Given the description of an element on the screen output the (x, y) to click on. 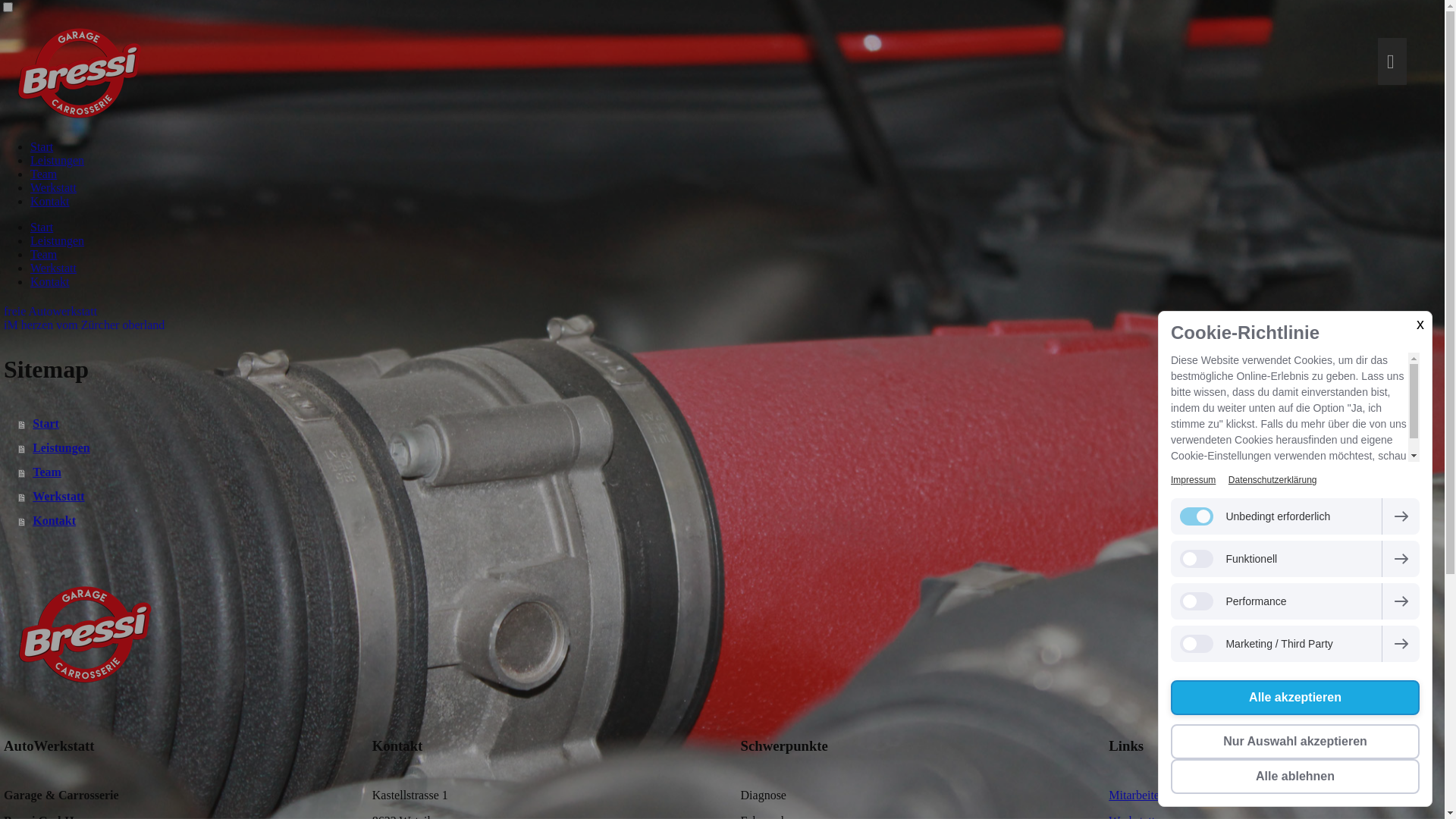
Impressum Element type: text (1192, 479)
Alle ablehnen Element type: text (1294, 776)
Werkstatt Element type: text (53, 187)
Team Element type: text (731, 472)
Team Element type: text (43, 253)
Leistungen Element type: text (731, 448)
Leistungen Element type: text (57, 240)
Werkstatt Element type: text (53, 267)
Start Element type: text (41, 146)
Leistungen Element type: text (57, 159)
Alle akzeptieren Element type: text (1294, 697)
Werkstatt Element type: text (731, 496)
Kontakt Element type: text (731, 520)
Kontakt Element type: text (49, 281)
Nur Auswahl akzeptieren Element type: text (1294, 741)
Kontakt Element type: text (49, 200)
Start Element type: text (731, 423)
Start Element type: text (41, 226)
Team Element type: text (43, 173)
Mitarbeiter Element type: text (1135, 794)
